Given the description of an element on the screen output the (x, y) to click on. 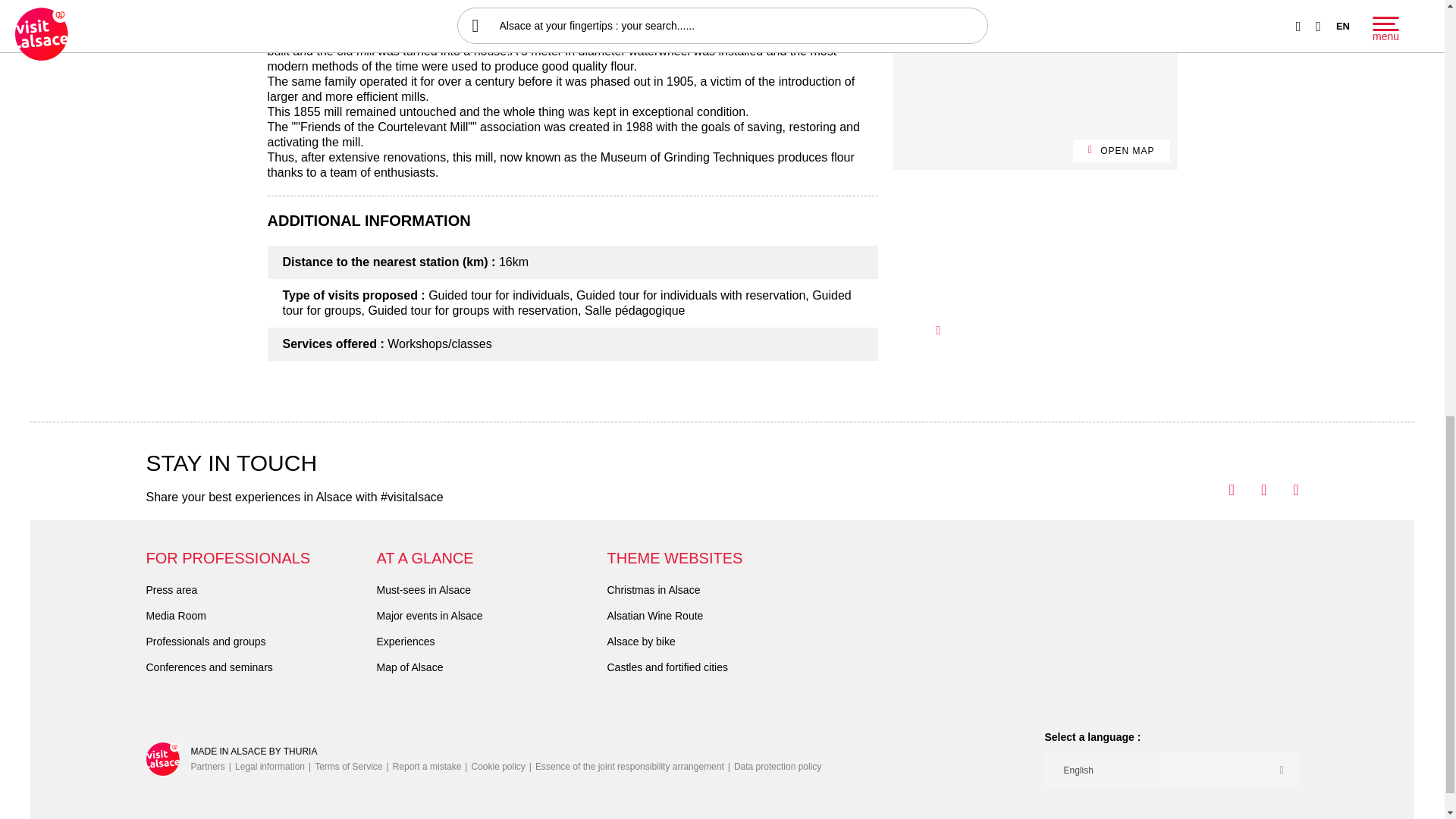
Instagram VisitAlsace (1282, 489)
Facebook VisitAlsace (1218, 489)
Youtube VisitAlsace (1250, 489)
